Given the description of an element on the screen output the (x, y) to click on. 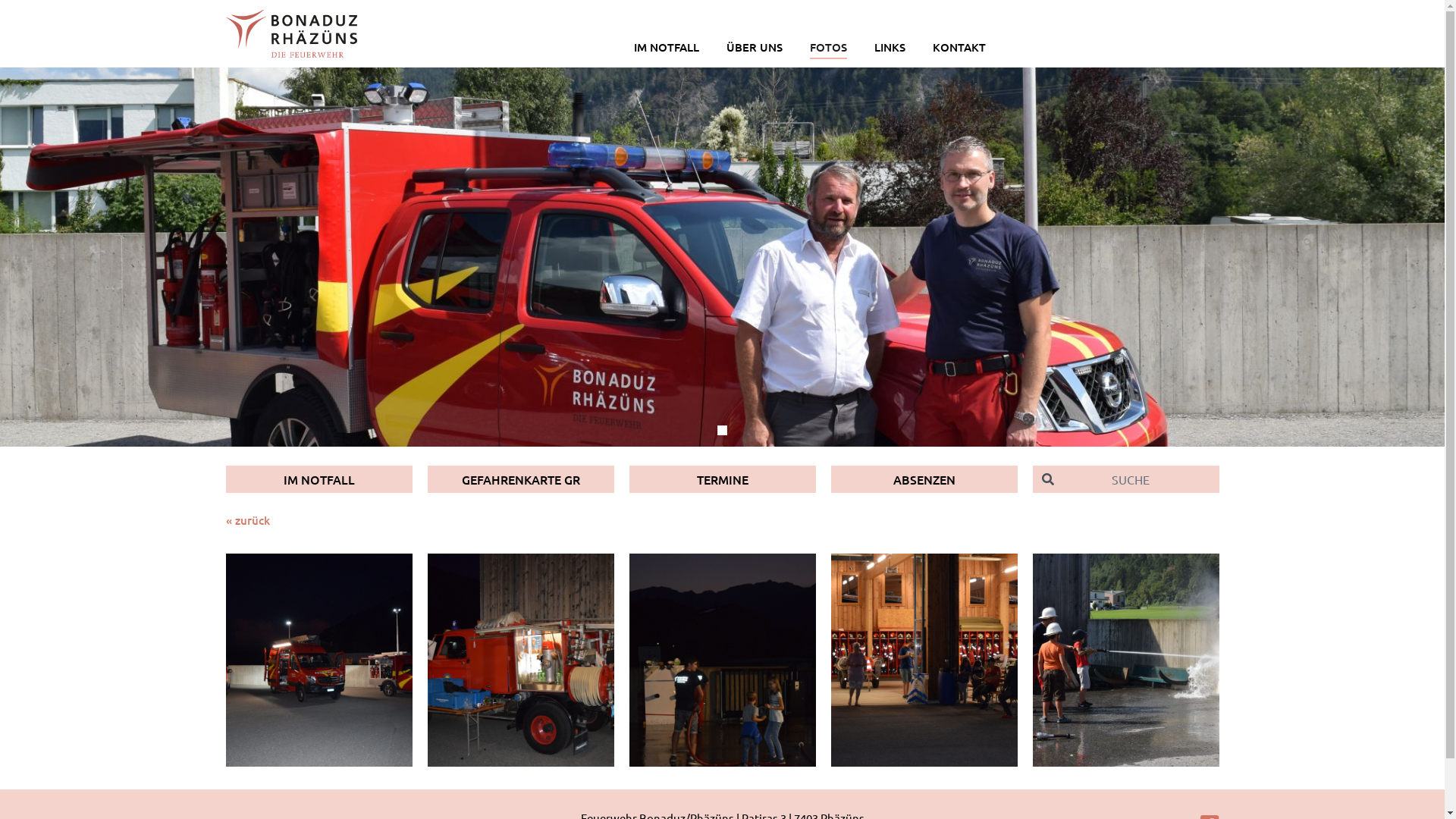
IM NOTFALL Element type: text (666, 42)
LINKS Element type: text (889, 42)
IM NOTFALL Element type: text (318, 478)
TERMINE Element type: text (722, 478)
ABSENZEN Element type: text (924, 478)
GEFAHRENKARTE GR Element type: text (520, 478)
KONTAKT Element type: text (958, 42)
FOTOS
(CURRENT) Element type: text (828, 42)
